Given the description of an element on the screen output the (x, y) to click on. 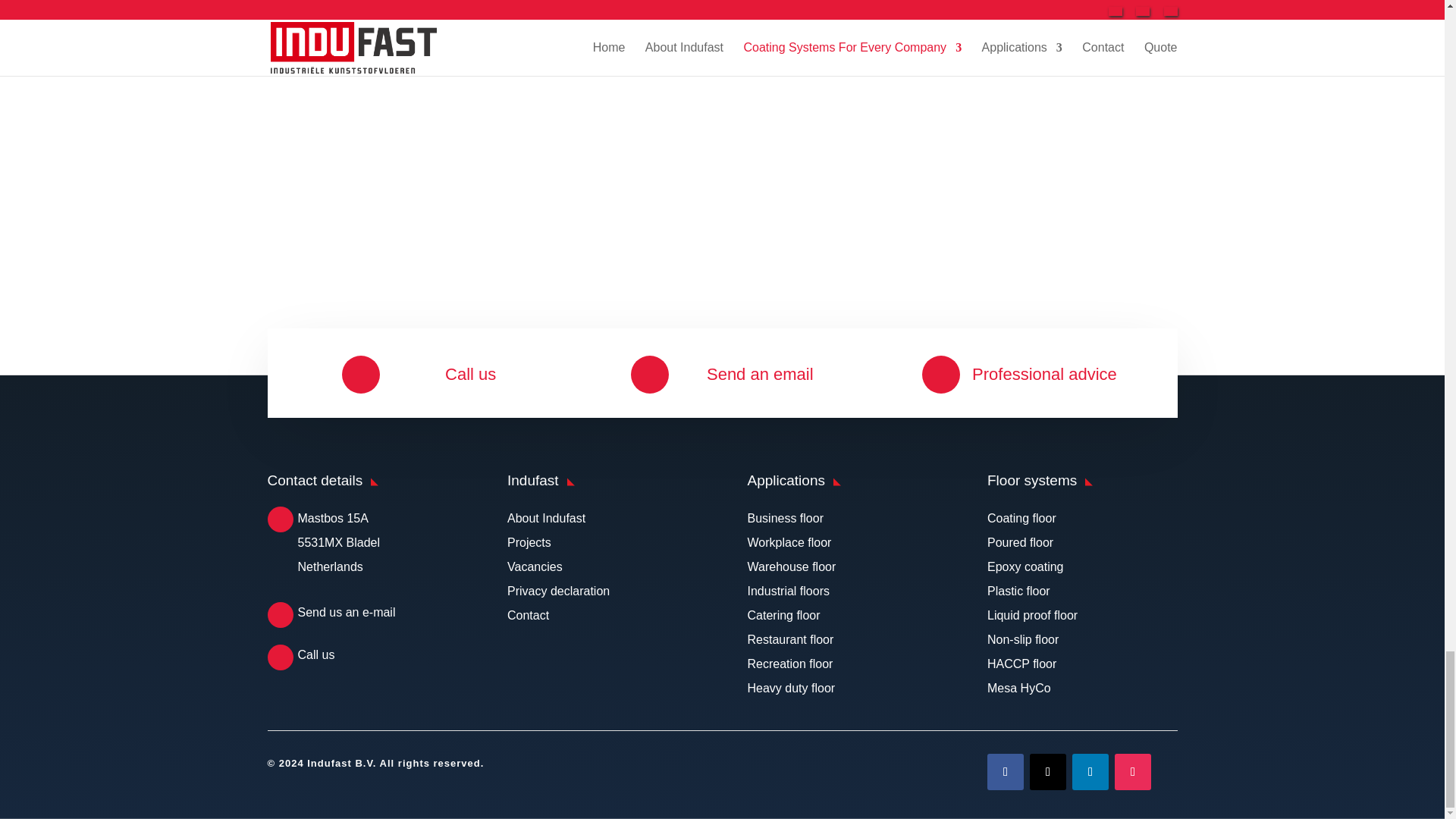
Follow on Instagram (1133, 771)
Follow on Facebook (1005, 771)
Follow on LinkedIn (1089, 771)
Follow on X (1047, 771)
